Given the description of an element on the screen output the (x, y) to click on. 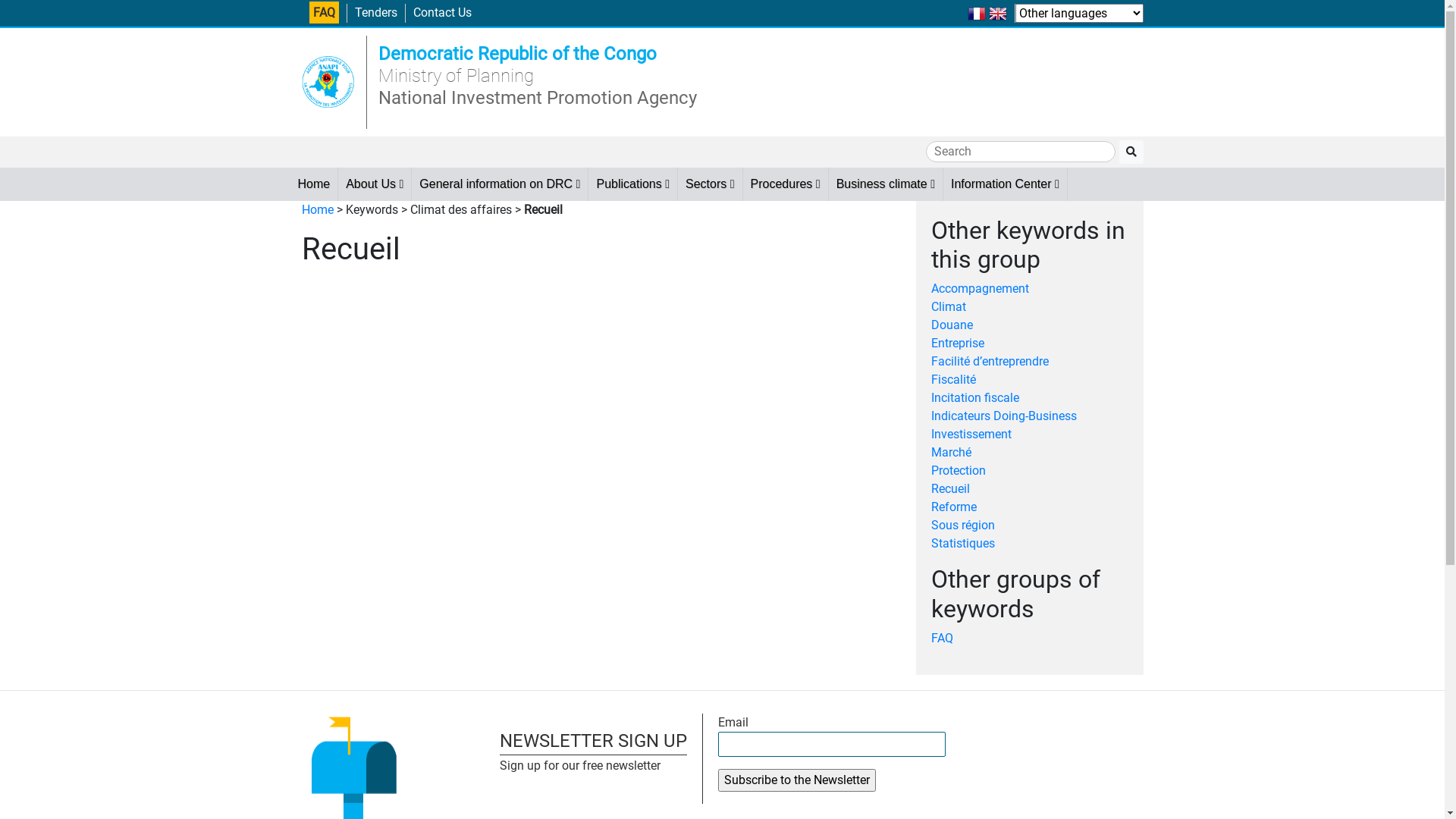
Protection Element type: text (958, 470)
Incitation fiscale Element type: text (975, 397)
Subscribe to the Newsletter Element type: text (796, 779)
Climat Element type: text (948, 306)
French Element type: hover (976, 12)
Investissement Element type: text (971, 433)
Statistiques Element type: text (962, 543)
Indicateurs Doing-Business Element type: text (1003, 415)
Home Element type: text (313, 183)
Recueil Element type: text (950, 488)
Contact Us Element type: text (441, 12)
English Element type: hover (997, 12)
FAQ Element type: text (323, 12)
Douane Element type: text (951, 324)
Entreprise Element type: text (957, 342)
Tenders Element type: text (375, 12)
Reforme Element type: text (953, 506)
Home Element type: text (317, 209)
FAQ Element type: text (942, 637)
Accompagnement Element type: text (980, 288)
